Given the description of an element on the screen output the (x, y) to click on. 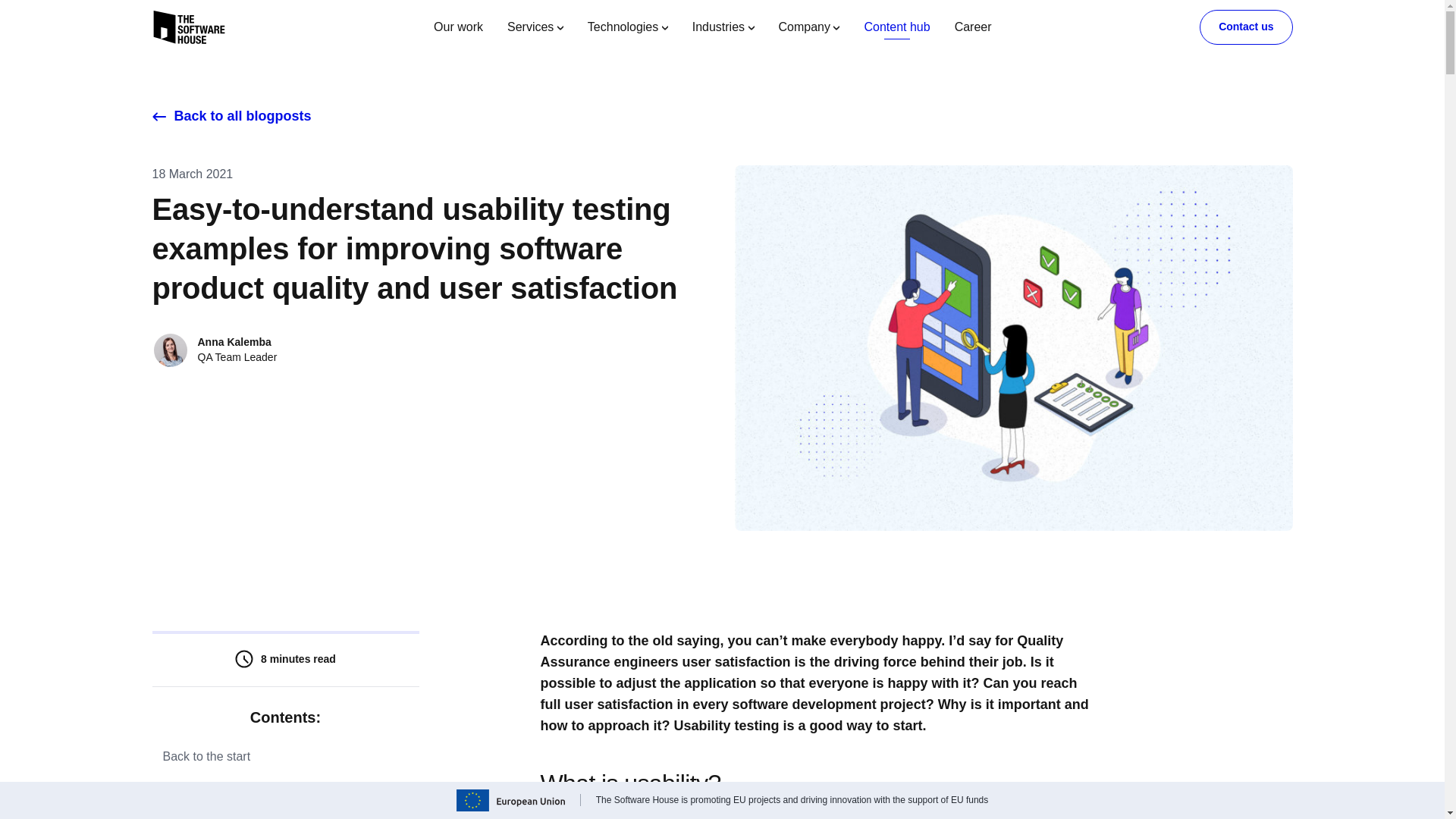
Our work (458, 27)
The Software House (188, 27)
Services (535, 27)
